Given the description of an element on the screen output the (x, y) to click on. 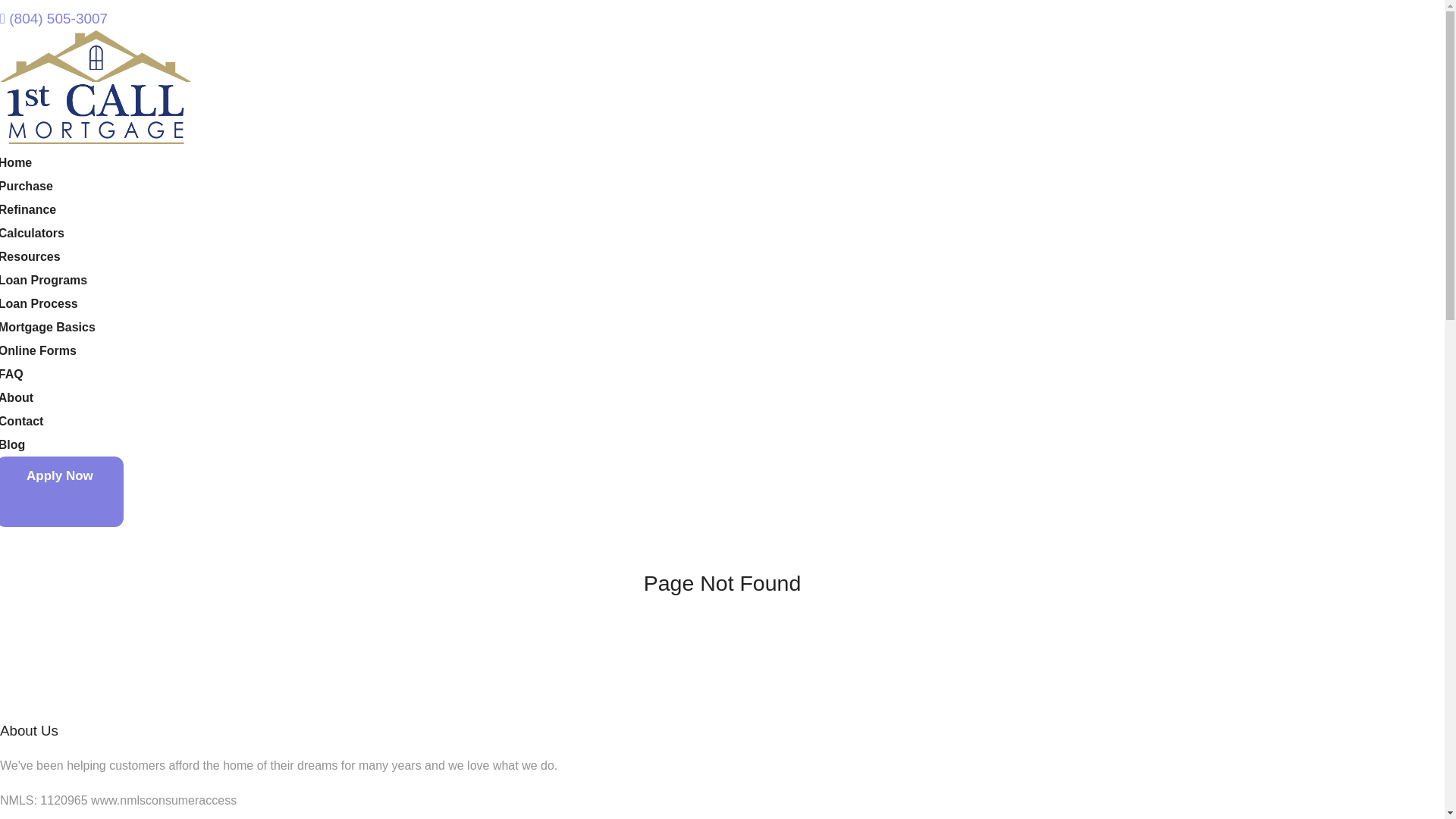
(804) 505-3007 Element type: text (53, 18)
